Given the description of an element on the screen output the (x, y) to click on. 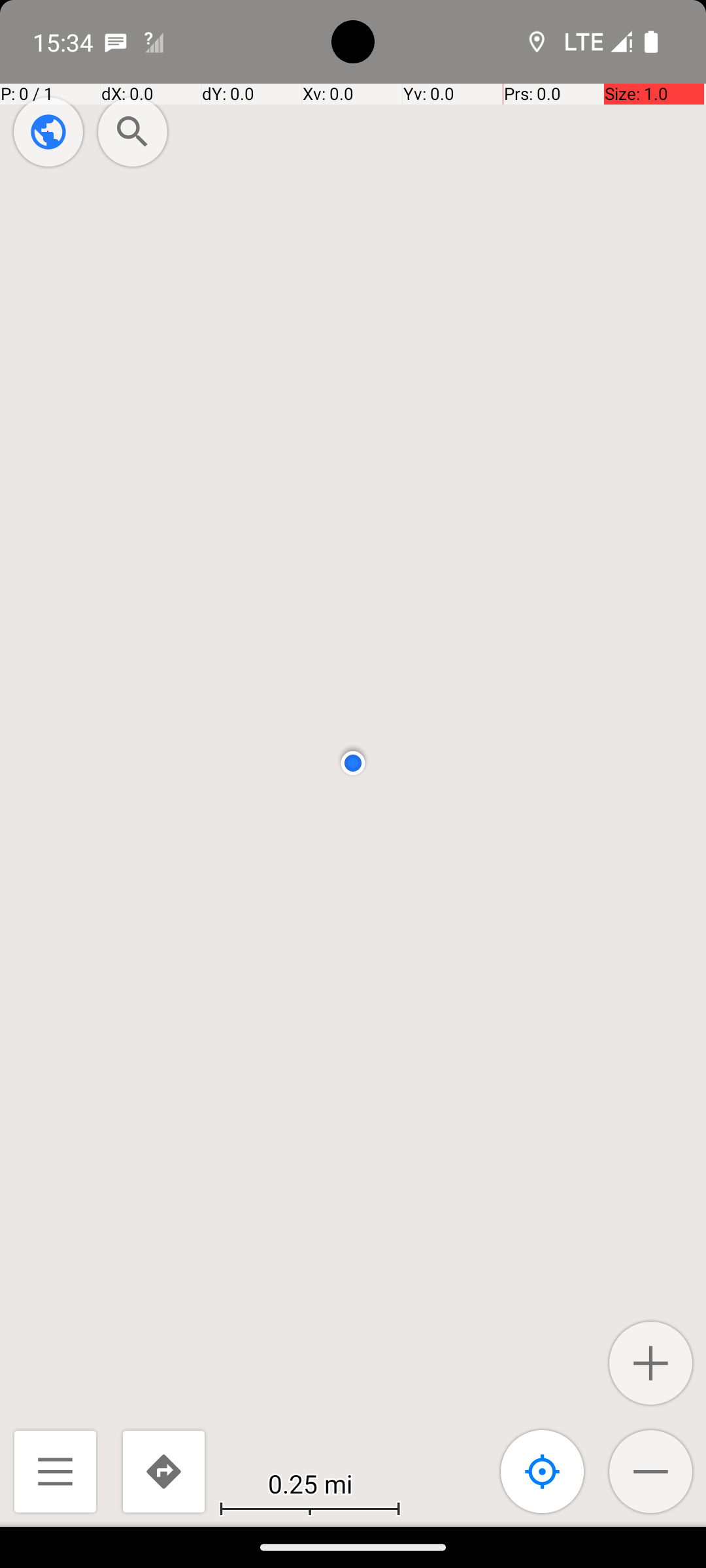
0.25 mi Element type: android.widget.TextView (309, 1483)
Map linked to location Element type: android.widget.ImageButton (542, 1471)
